Given the description of an element on the screen output the (x, y) to click on. 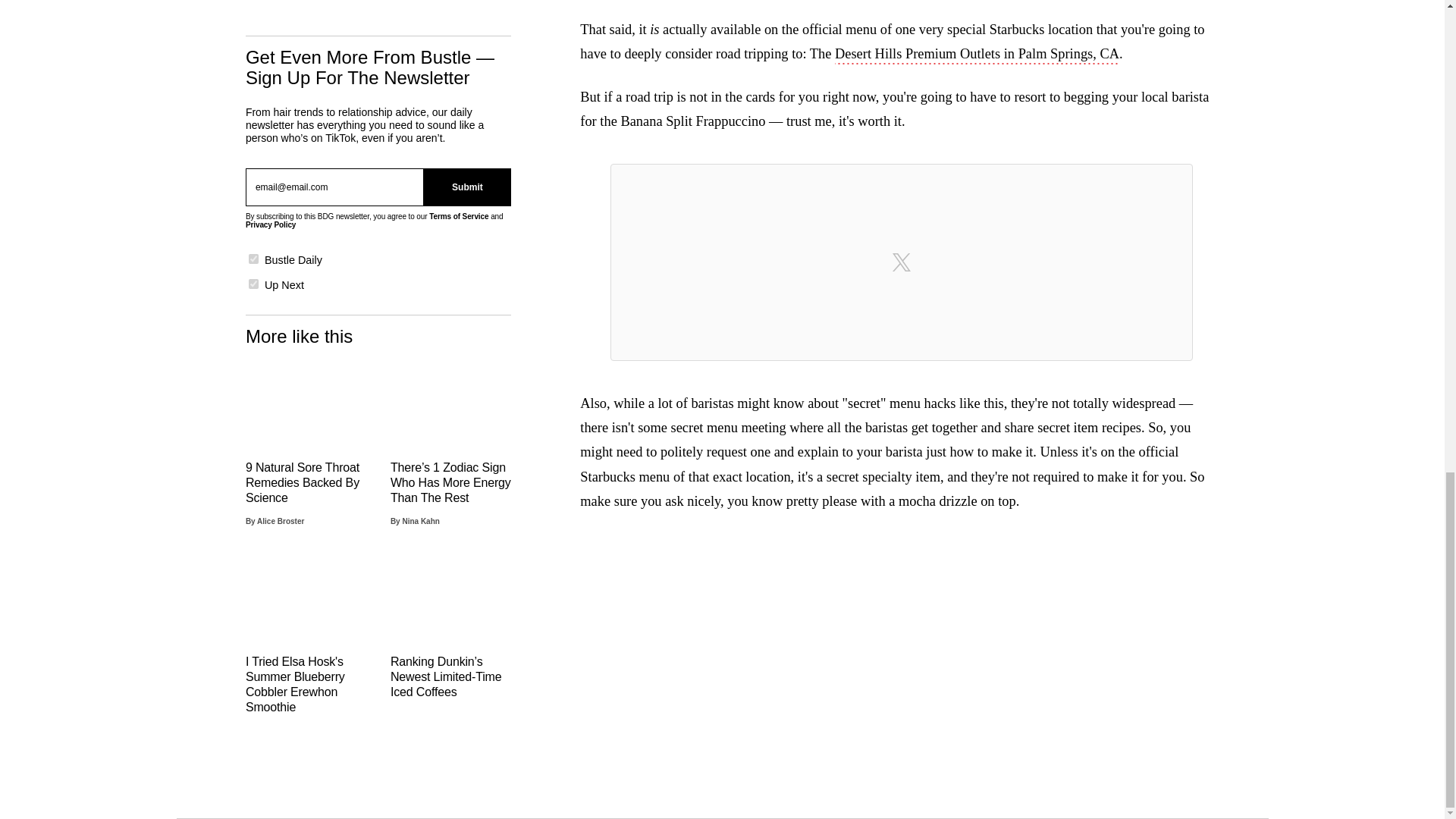
Privacy Policy (270, 224)
Desert Hills Premium Outlets in Palm Springs, CA (976, 54)
Submit (467, 187)
Terms of Service (458, 216)
